Given the description of an element on the screen output the (x, y) to click on. 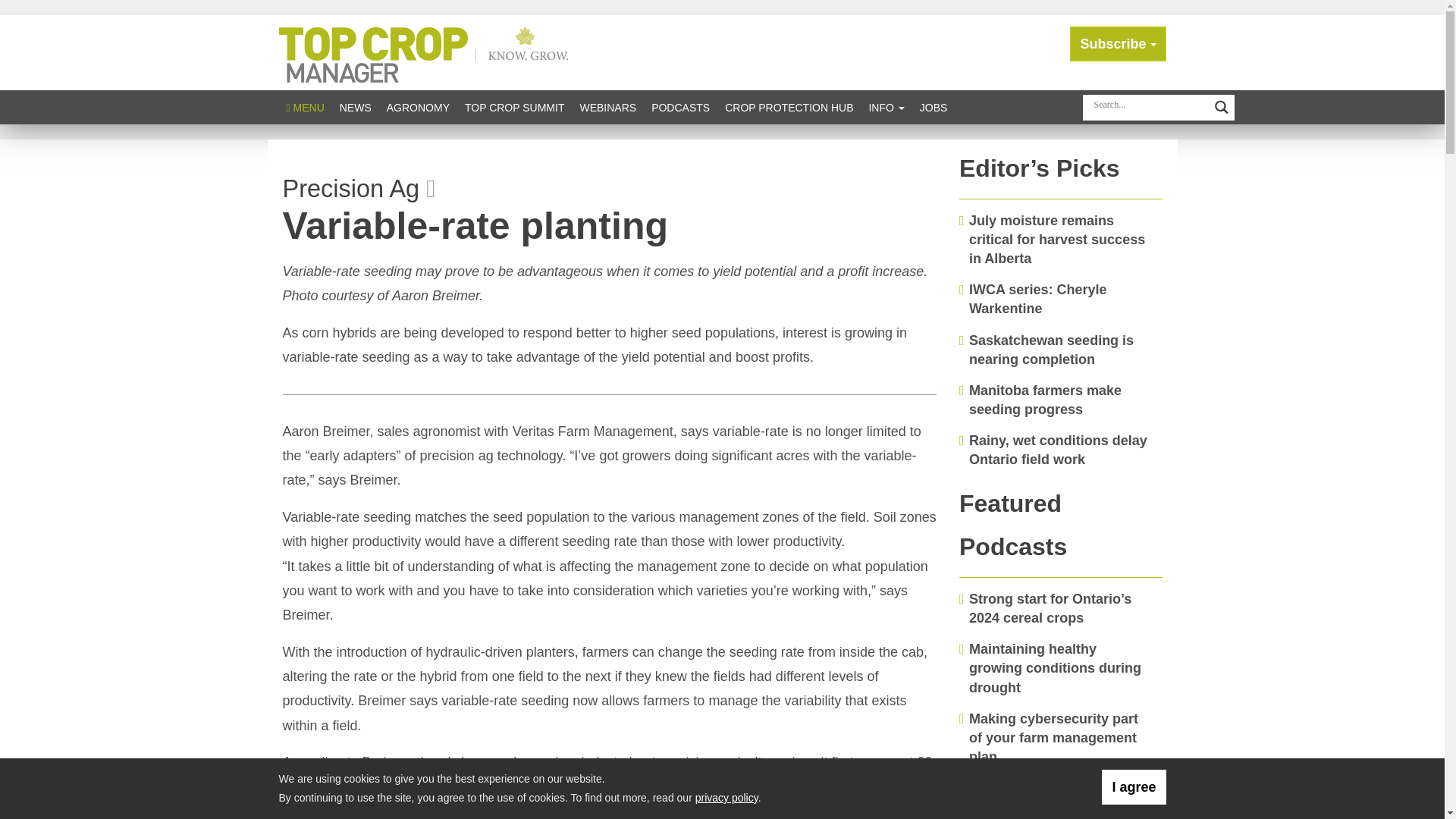
JOBS (933, 107)
TOP CROP SUMMIT (514, 107)
MENU (305, 107)
Top Crop Manager (427, 51)
PODCASTS (680, 107)
WEBINARS (607, 107)
INFO (885, 107)
Subscribe (1118, 43)
Click to show site navigation (305, 107)
NEWS (354, 107)
CROP PROTECTION HUB (788, 107)
AGRONOMY (417, 107)
